Given the description of an element on the screen output the (x, y) to click on. 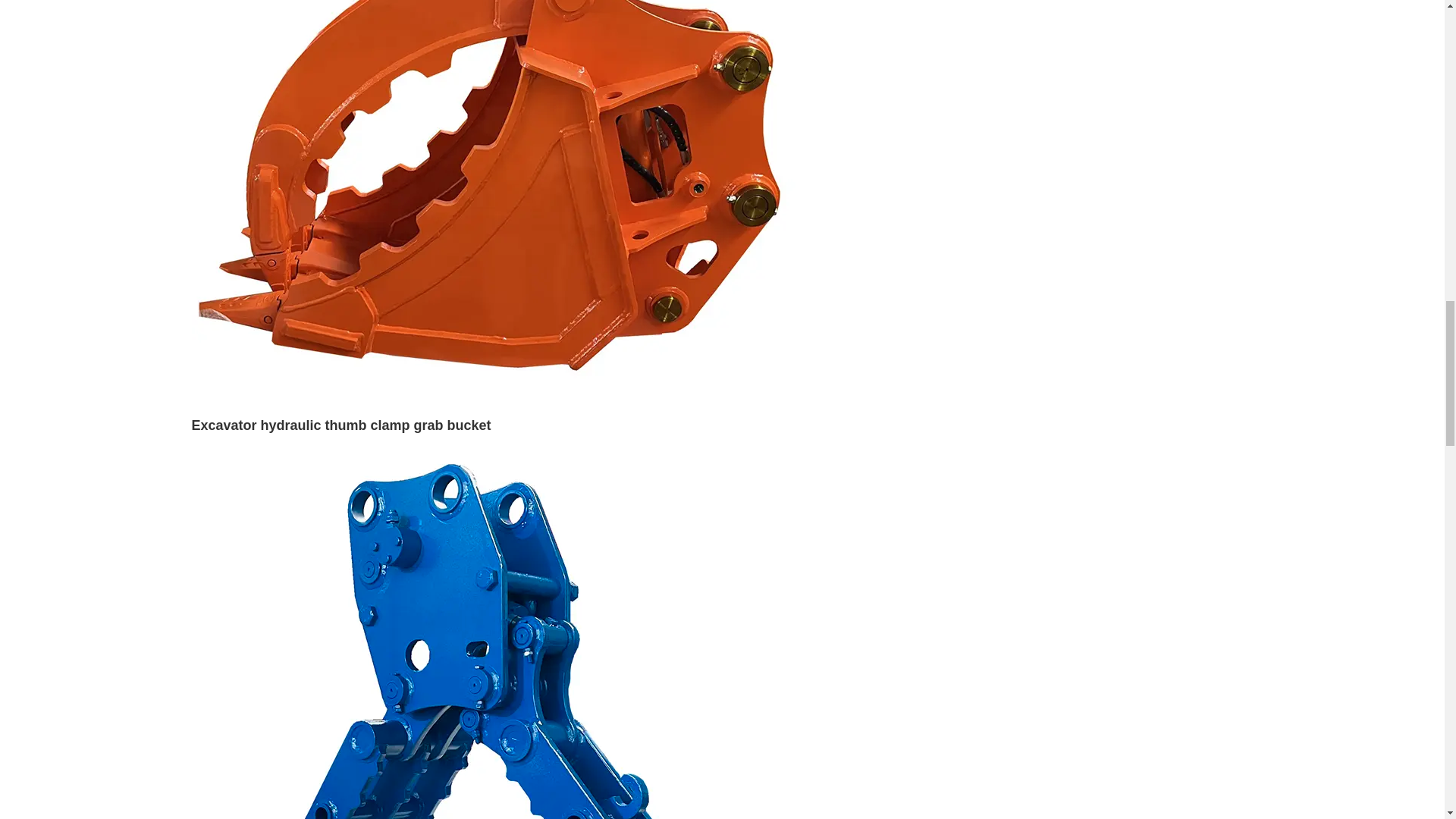
Excavator hydraulic thumb clamp grab bucket (493, 108)
Excavator hydraulic thumb clamp grab bucket (340, 425)
Mini excavator log stone steel hydraulic grab (493, 748)
